Given the description of an element on the screen output the (x, y) to click on. 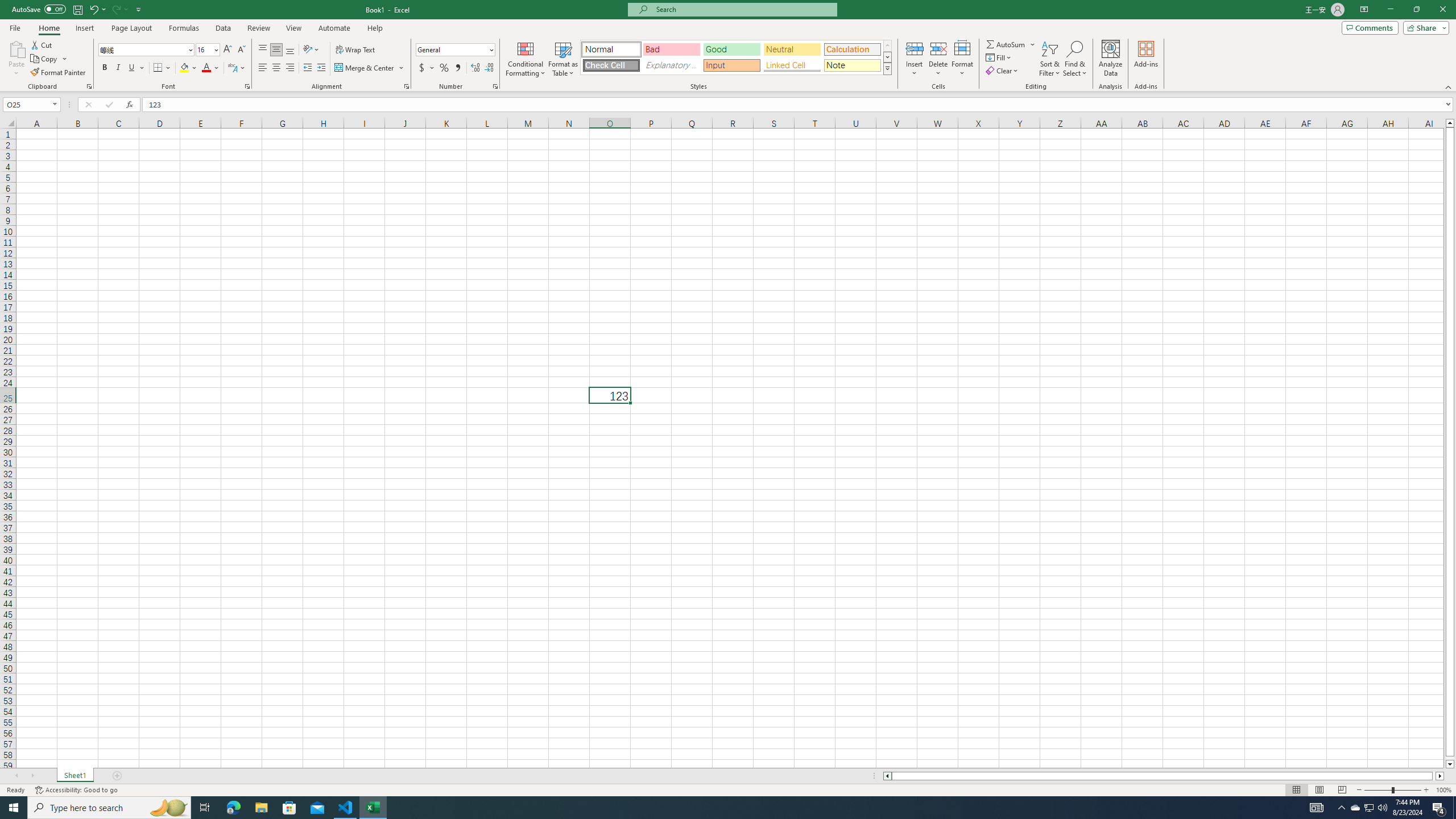
Paste (16, 58)
Font (147, 49)
Quick Access Toolbar (77, 9)
Ribbon Display Options (1364, 9)
Format Cell Font (247, 85)
Share (1423, 27)
Collapse the Ribbon (1448, 86)
Font Size (204, 49)
Decrease Indent (307, 67)
Page down (1449, 758)
Open (54, 104)
More Options (1033, 44)
Insert (914, 58)
